Given the description of an element on the screen output the (x, y) to click on. 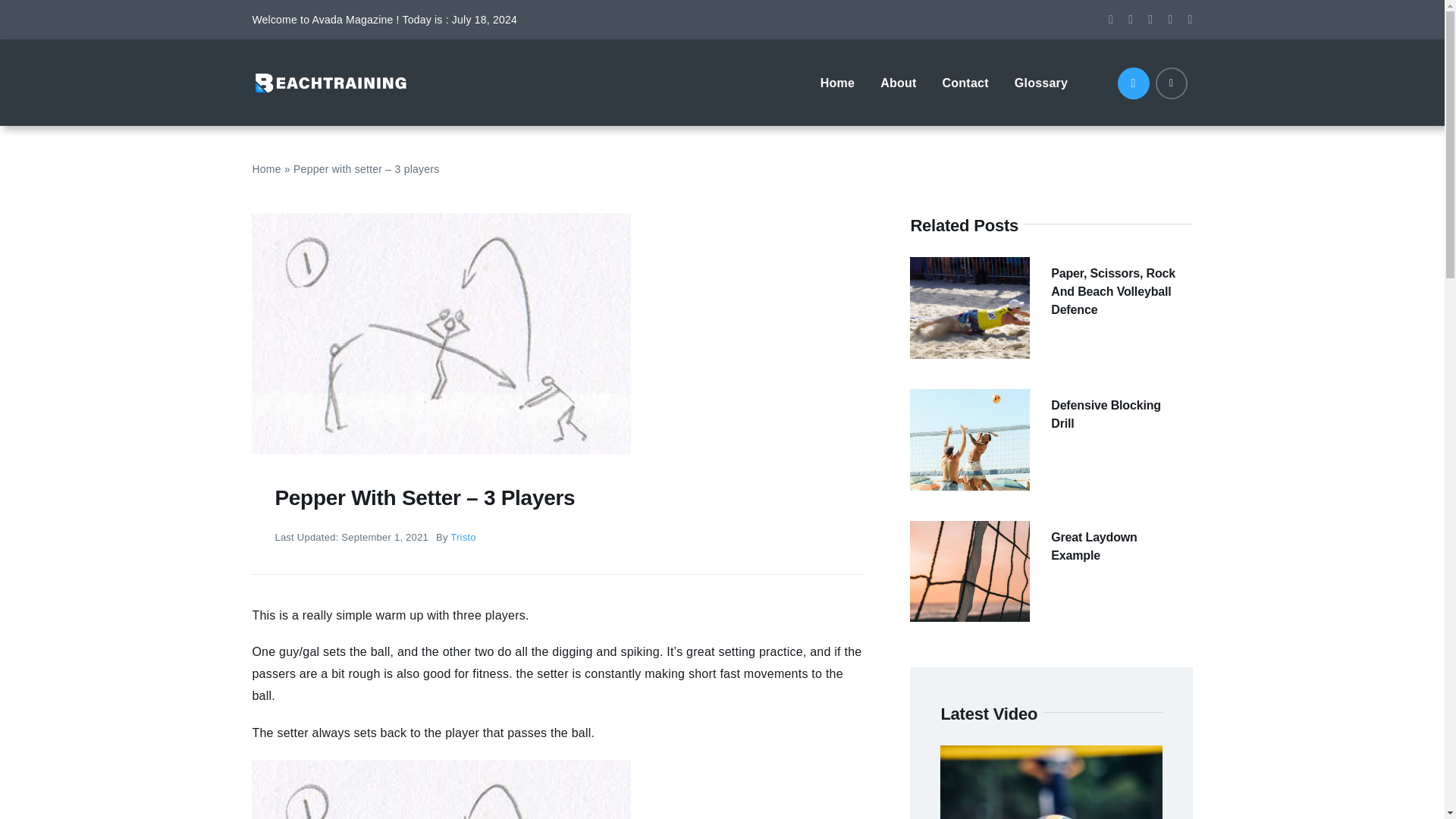
setter-pepper (440, 789)
Home (266, 168)
Paper, Scissors, Rock And Beach Volleyball Defence (1112, 291)
Defensive Blocking Drill (1105, 413)
Contact (965, 82)
Tristo (462, 536)
Posts by Tristo (462, 536)
Glossary (1040, 82)
Great Laydown Example (1094, 545)
